Given the description of an element on the screen output the (x, y) to click on. 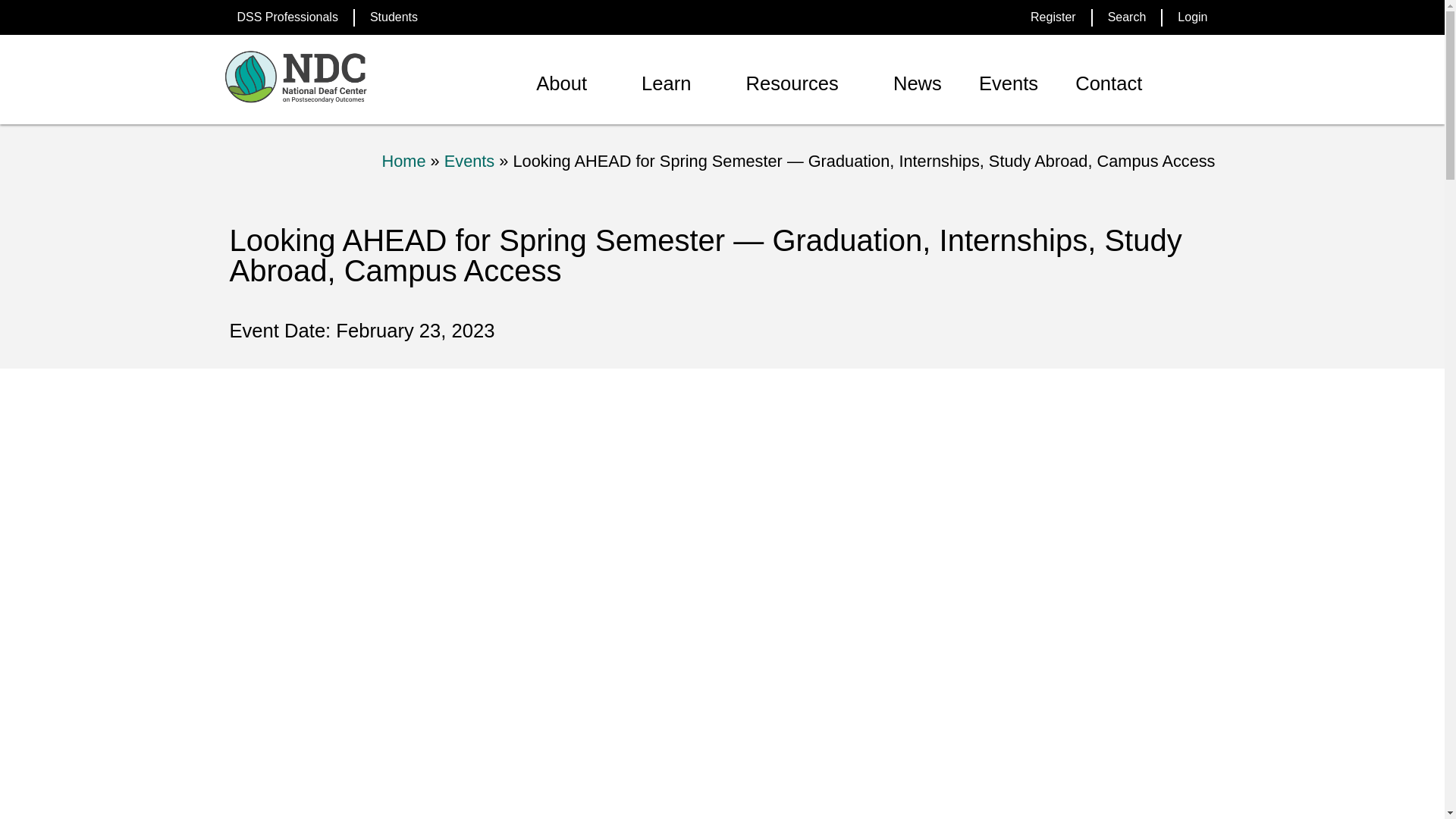
Search (1127, 17)
Register (1052, 17)
Students (393, 17)
Resources (791, 82)
Login (1192, 17)
About (560, 82)
Learn (666, 82)
DSS Professionals (286, 17)
